Given the description of an element on the screen output the (x, y) to click on. 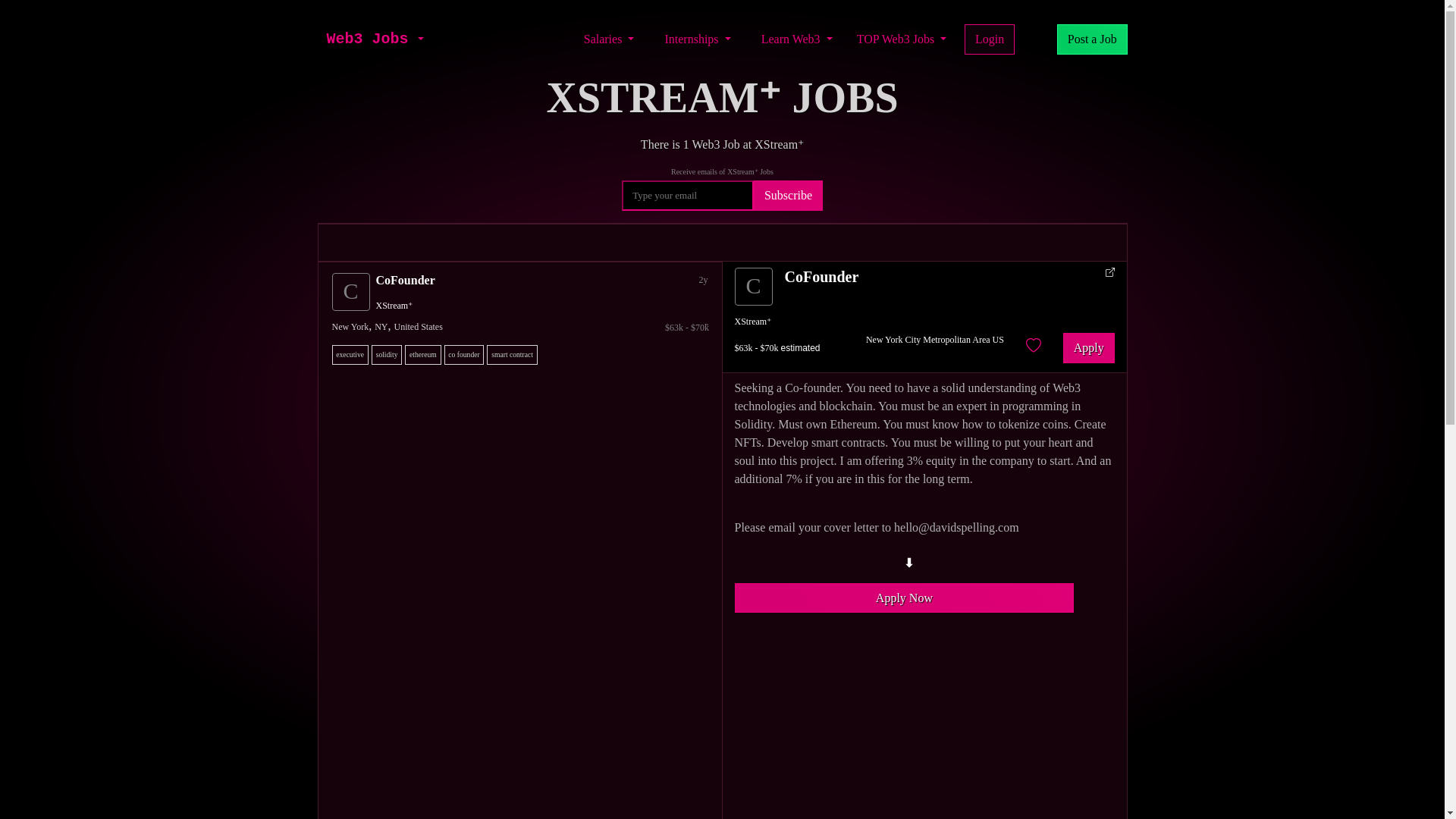
Estimated salary based on similar jobs (522, 327)
Subscribe (788, 195)
Salaries (609, 39)
Web3 Jobs (366, 39)
Internships (697, 39)
Estimated compensation based on similar jobs (776, 347)
Learn Web3 (796, 39)
